Given the description of an element on the screen output the (x, y) to click on. 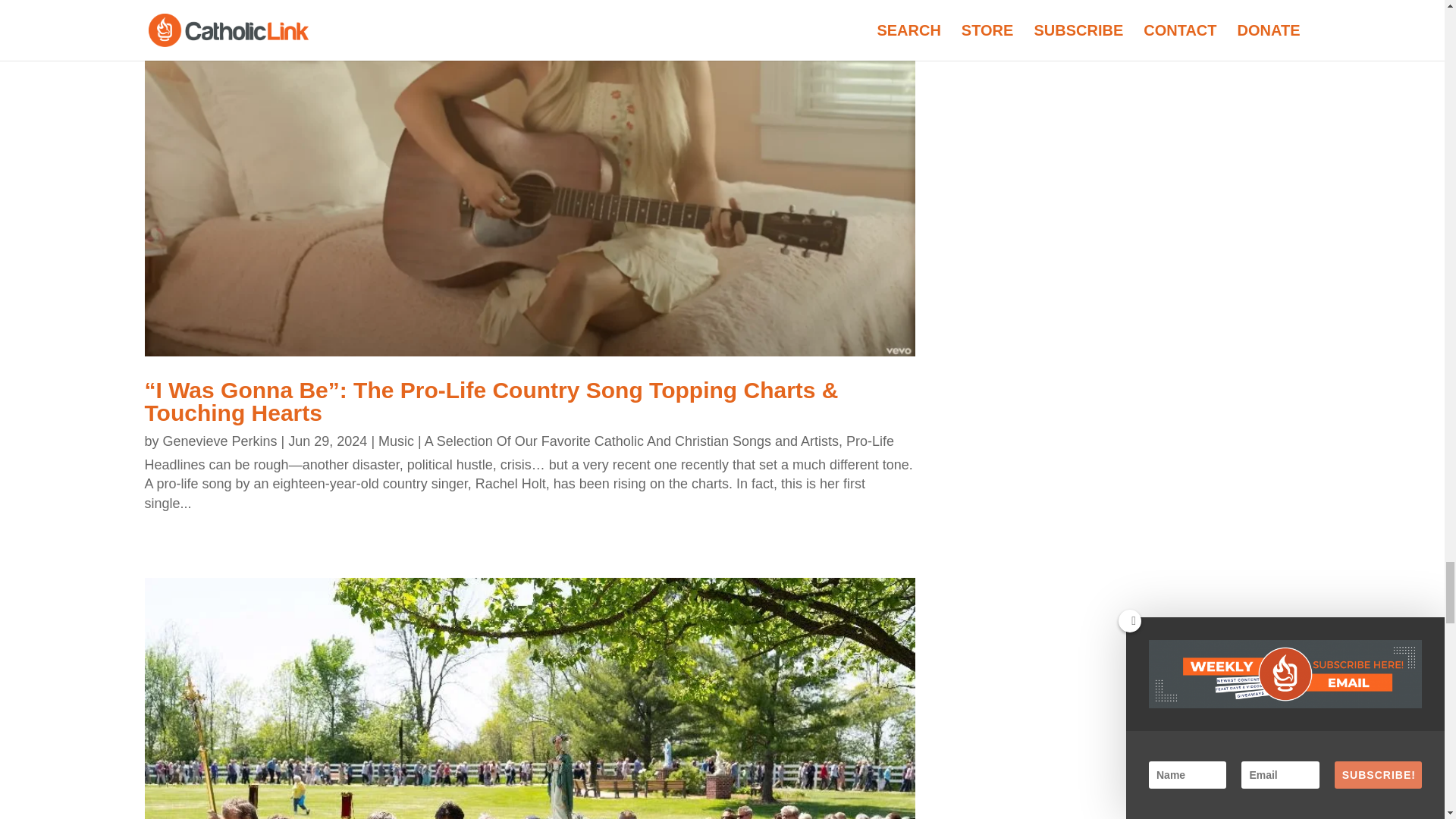
Posts by Genevieve Perkins (220, 441)
